Given the description of an element on the screen output the (x, y) to click on. 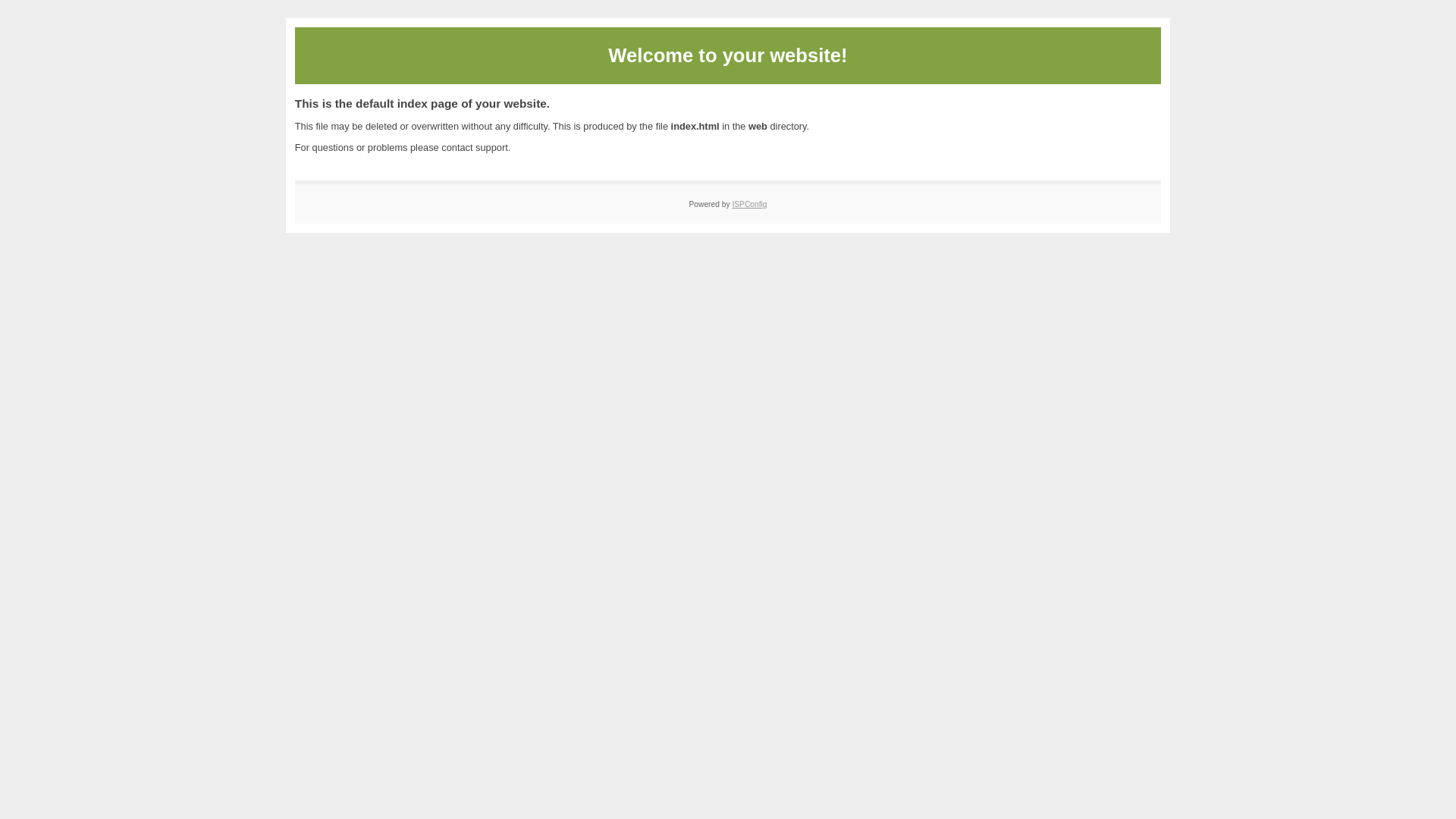
ISPConfig Element type: text (748, 204)
